Given the description of an element on the screen output the (x, y) to click on. 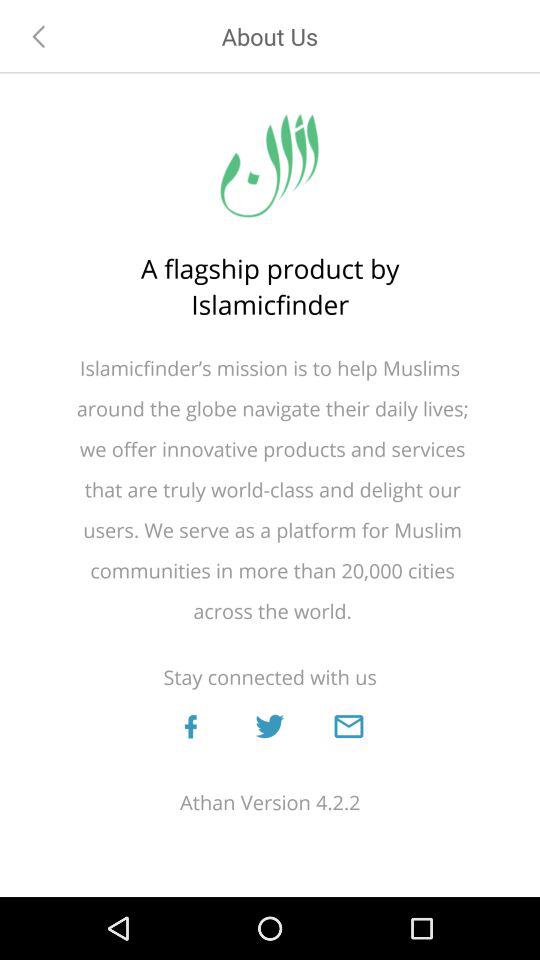
email us (348, 726)
